Given the description of an element on the screen output the (x, y) to click on. 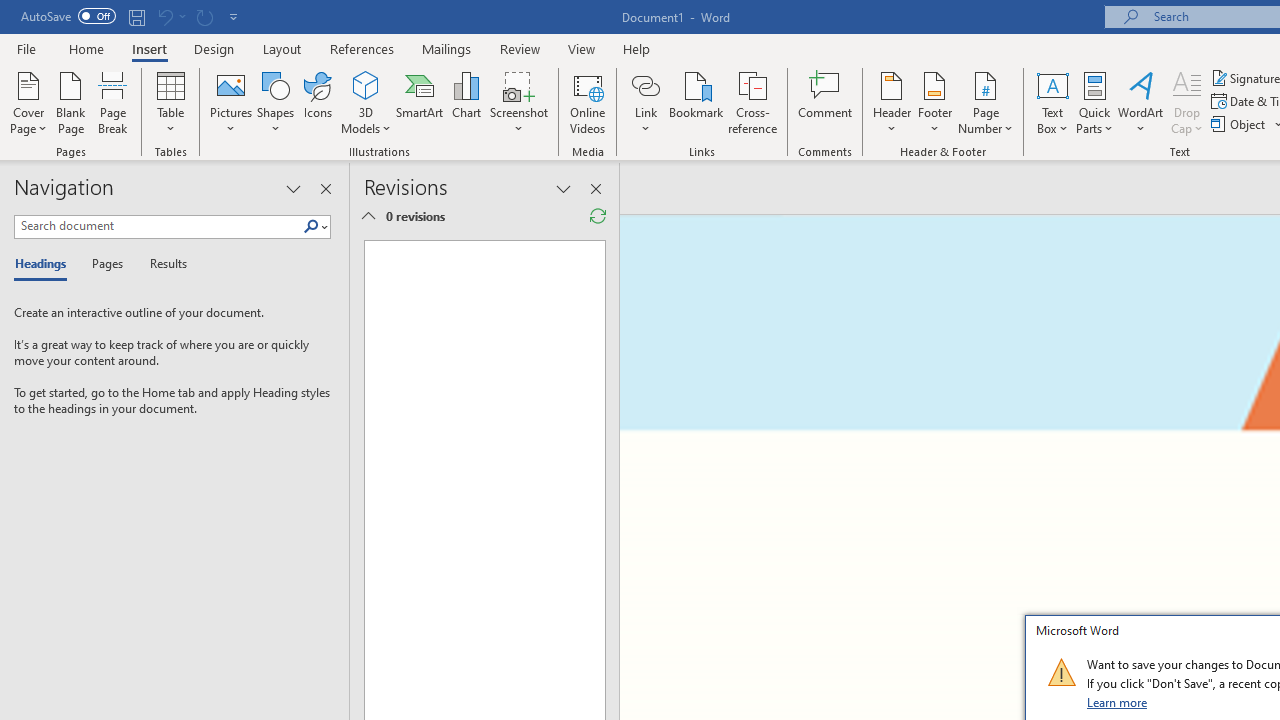
Page Number (986, 102)
Learn more (1118, 702)
Drop Cap (1187, 102)
Object... (1240, 124)
Show Detailed Summary (368, 215)
Quick Parts (1094, 102)
Table (170, 102)
SmartArt... (419, 102)
3D Models (366, 84)
